Given the description of an element on the screen output the (x, y) to click on. 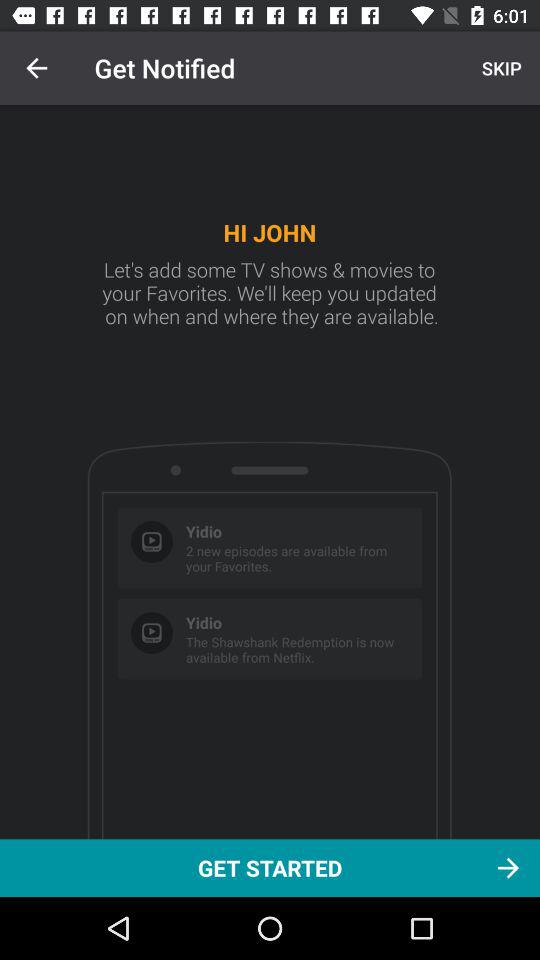
press skip at the top right corner (499, 67)
